Given the description of an element on the screen output the (x, y) to click on. 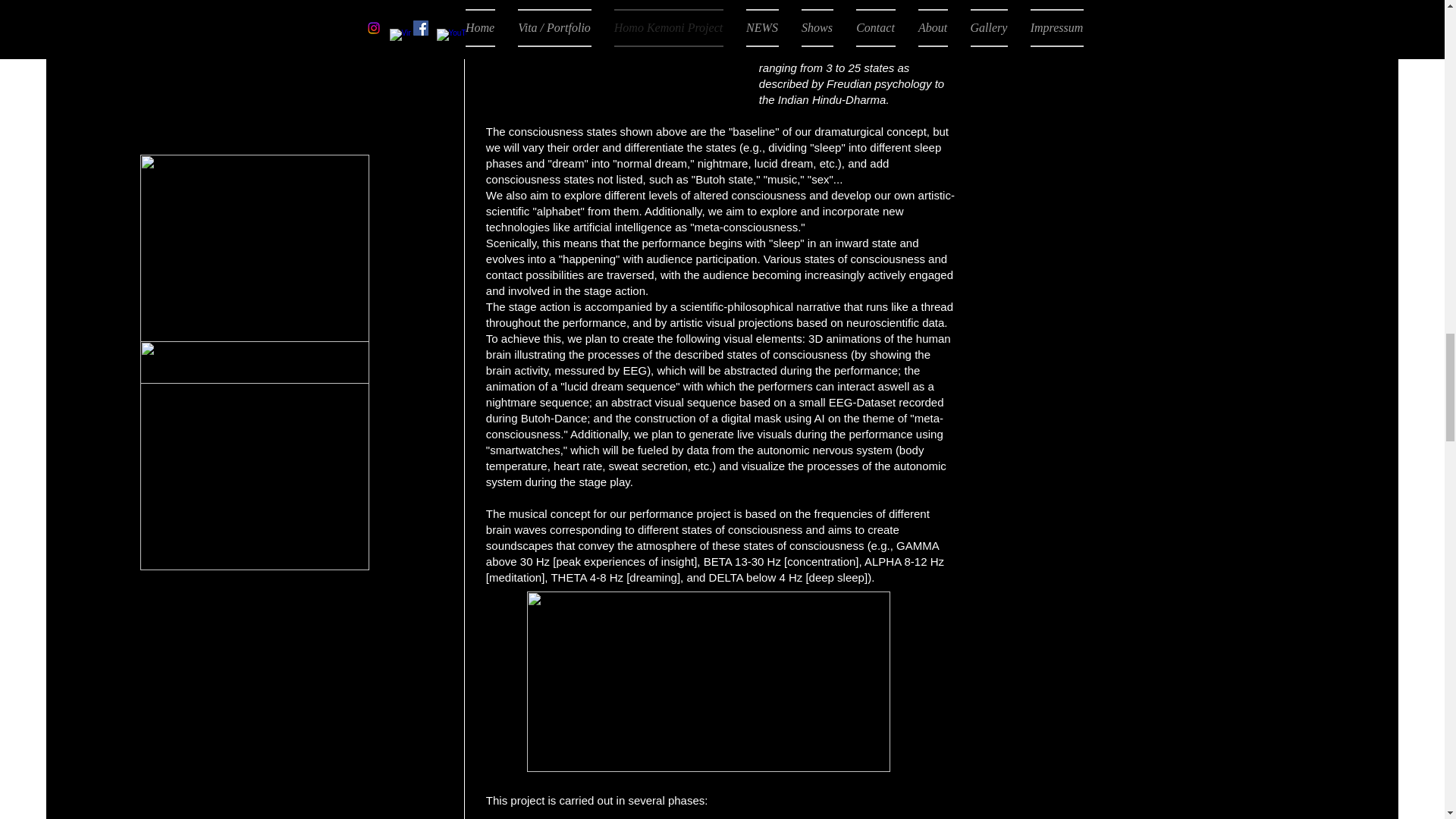
brainwave-frequencies-chart.jpg (708, 681)
